Given the description of an element on the screen output the (x, y) to click on. 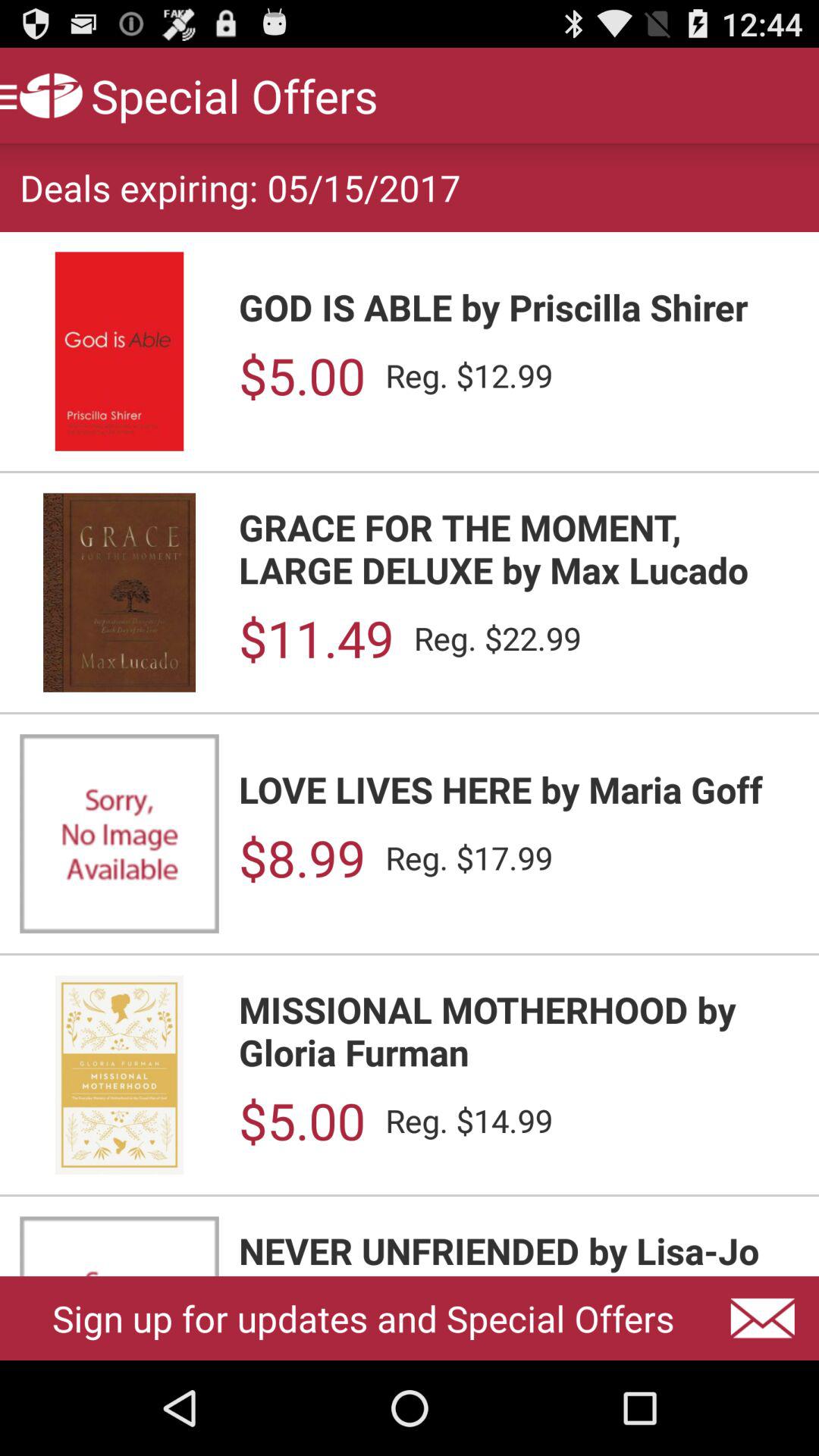
press the item above love lives here app (316, 638)
